Given the description of an element on the screen output the (x, y) to click on. 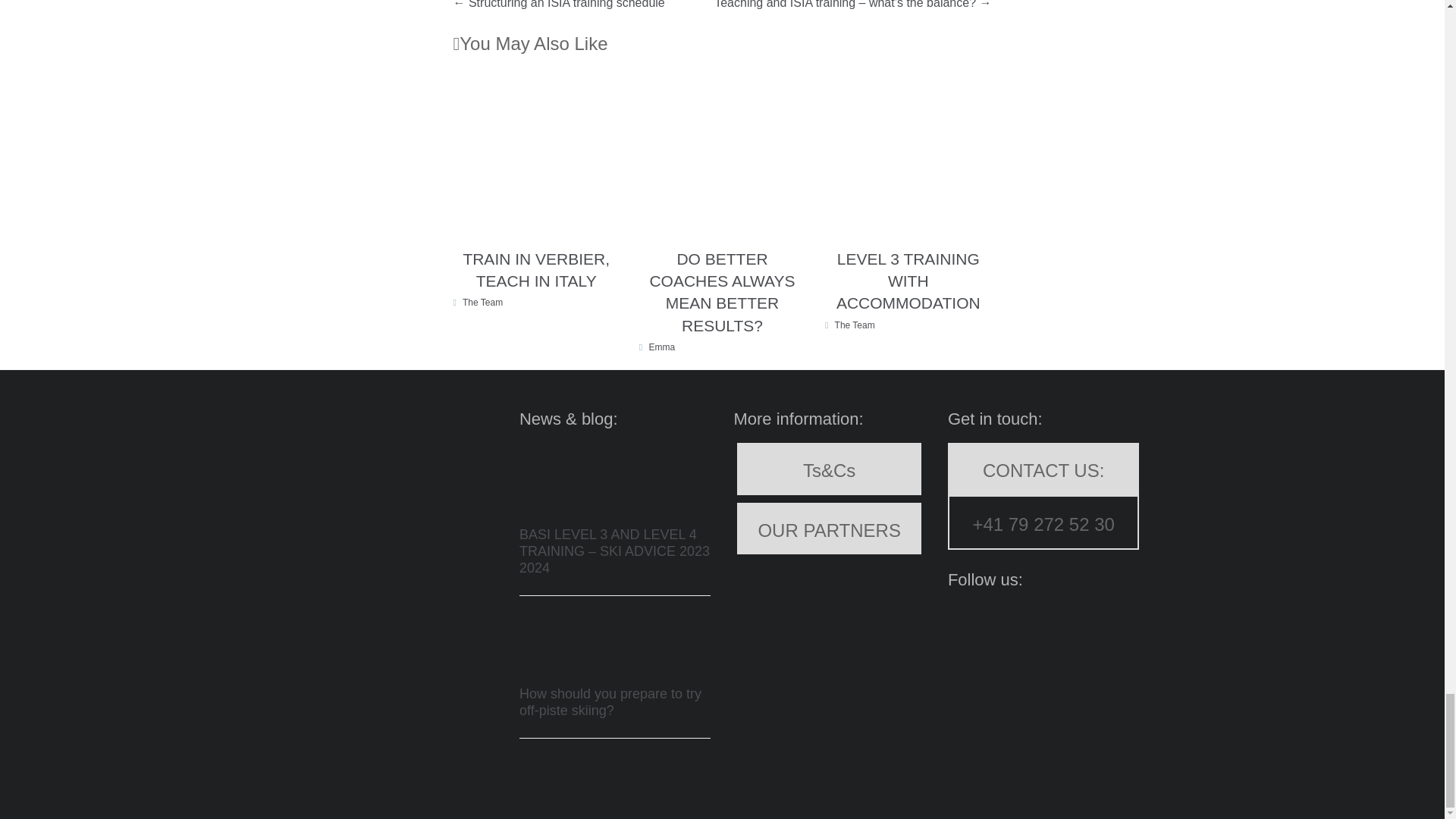
TRAIN IN VERBIER, TEACH IN ITALY (536, 269)
DO BETTER COACHES ALWAYS MEAN BETTER RESULTS? (721, 292)
Emma (662, 347)
The Team (482, 302)
